Given the description of an element on the screen output the (x, y) to click on. 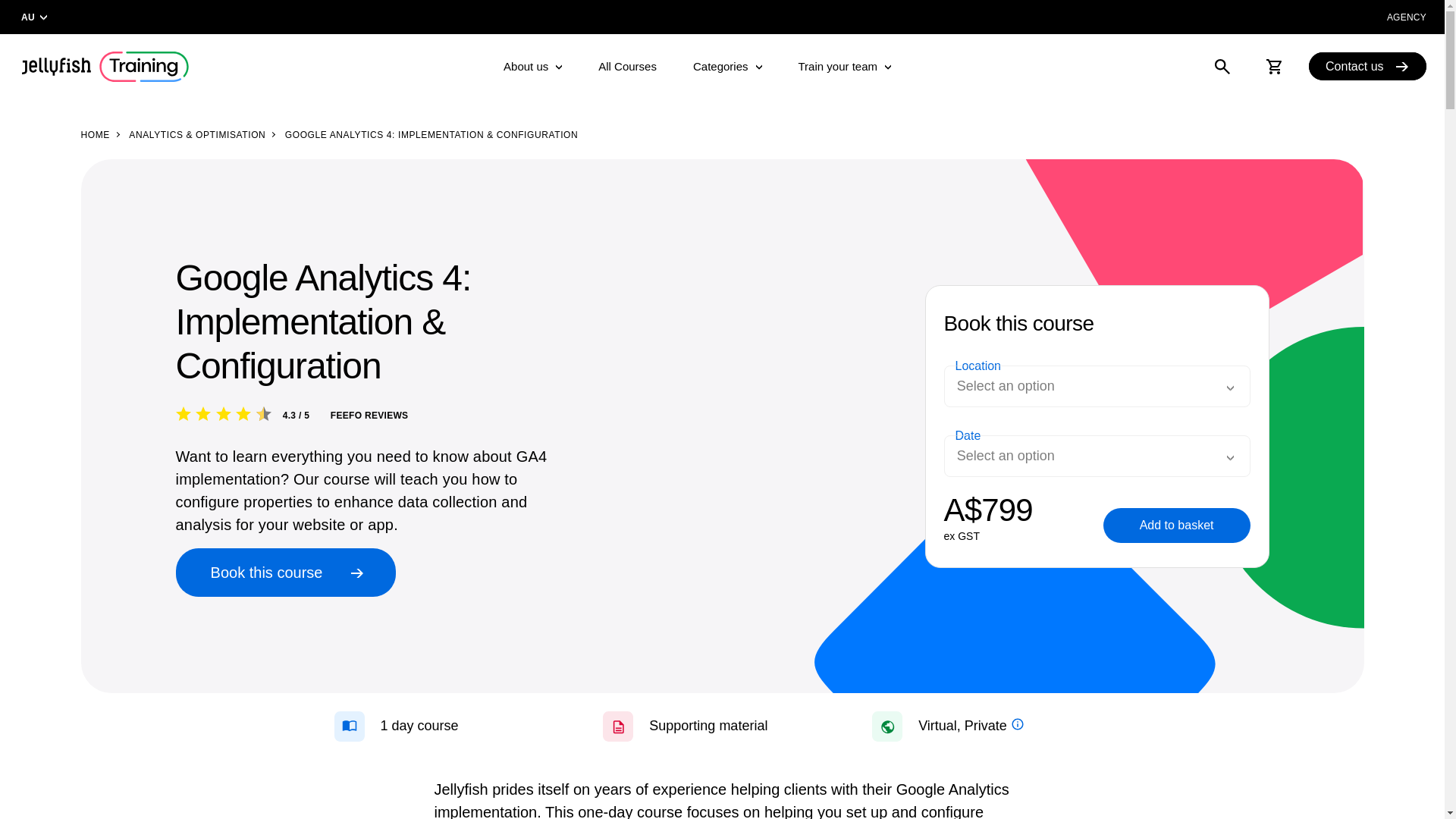
About us (531, 66)
Train your team (844, 66)
Jellyfish Training (103, 66)
All Courses (696, 66)
Contact us (627, 66)
Go to Home Page (1367, 66)
Categories (94, 135)
AGENCY (727, 66)
AU (1406, 17)
